Given the description of an element on the screen output the (x, y) to click on. 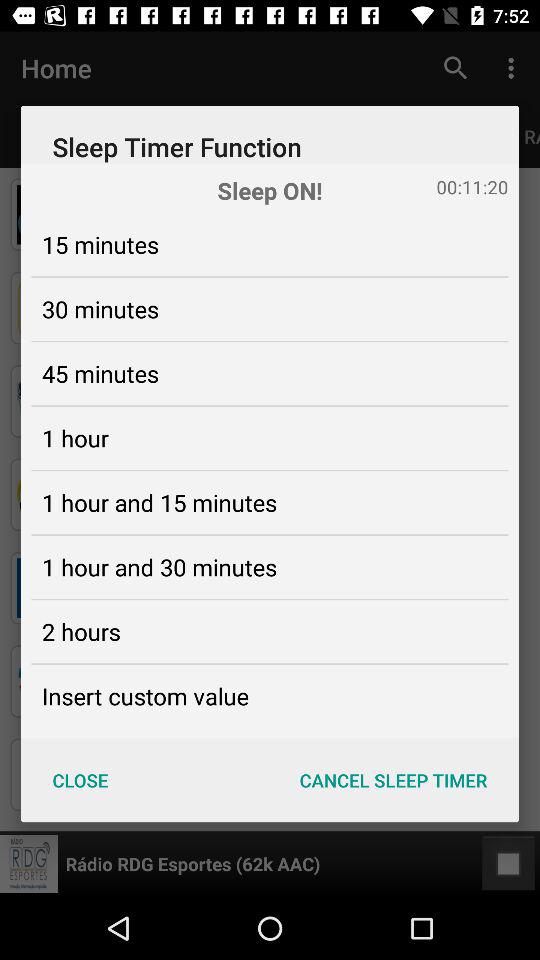
tap item below the insert custom value icon (80, 779)
